Given the description of an element on the screen output the (x, y) to click on. 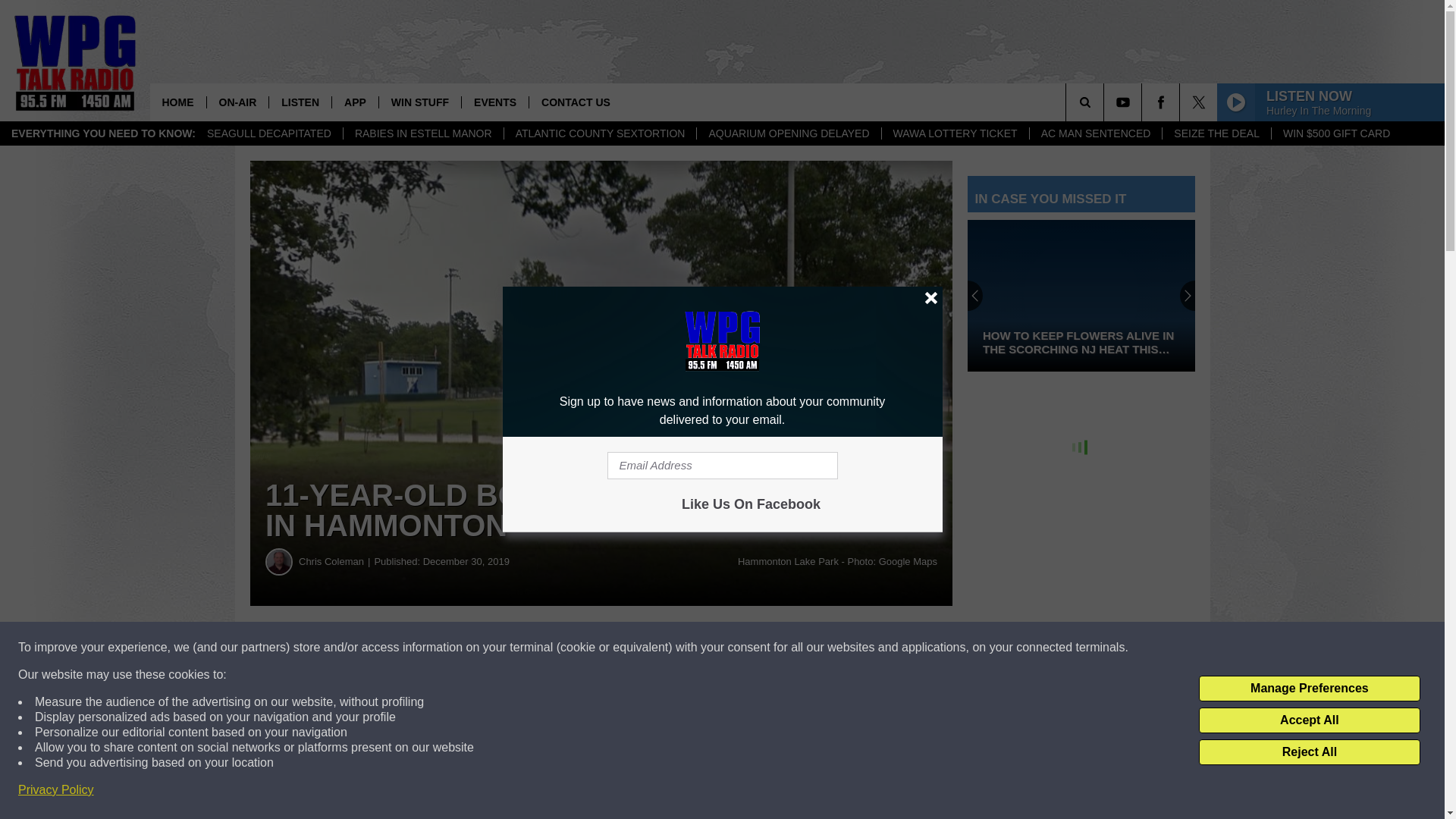
SEARCH (1106, 102)
Reject All (1309, 751)
Share on Facebook (460, 647)
RABIES IN ESTELL MANOR (422, 133)
HOME (177, 102)
Manage Preferences (1309, 688)
Privacy Policy (55, 789)
LISTEN (299, 102)
WAWA LOTTERY TICKET (954, 133)
AC MAN SENTENCED (1095, 133)
Share on Twitter (741, 647)
AQUARIUM OPENING DELAYED (787, 133)
Accept All (1309, 720)
ATLANTIC COUNTY SEXTORTION (600, 133)
SEARCH (1106, 102)
